Given the description of an element on the screen output the (x, y) to click on. 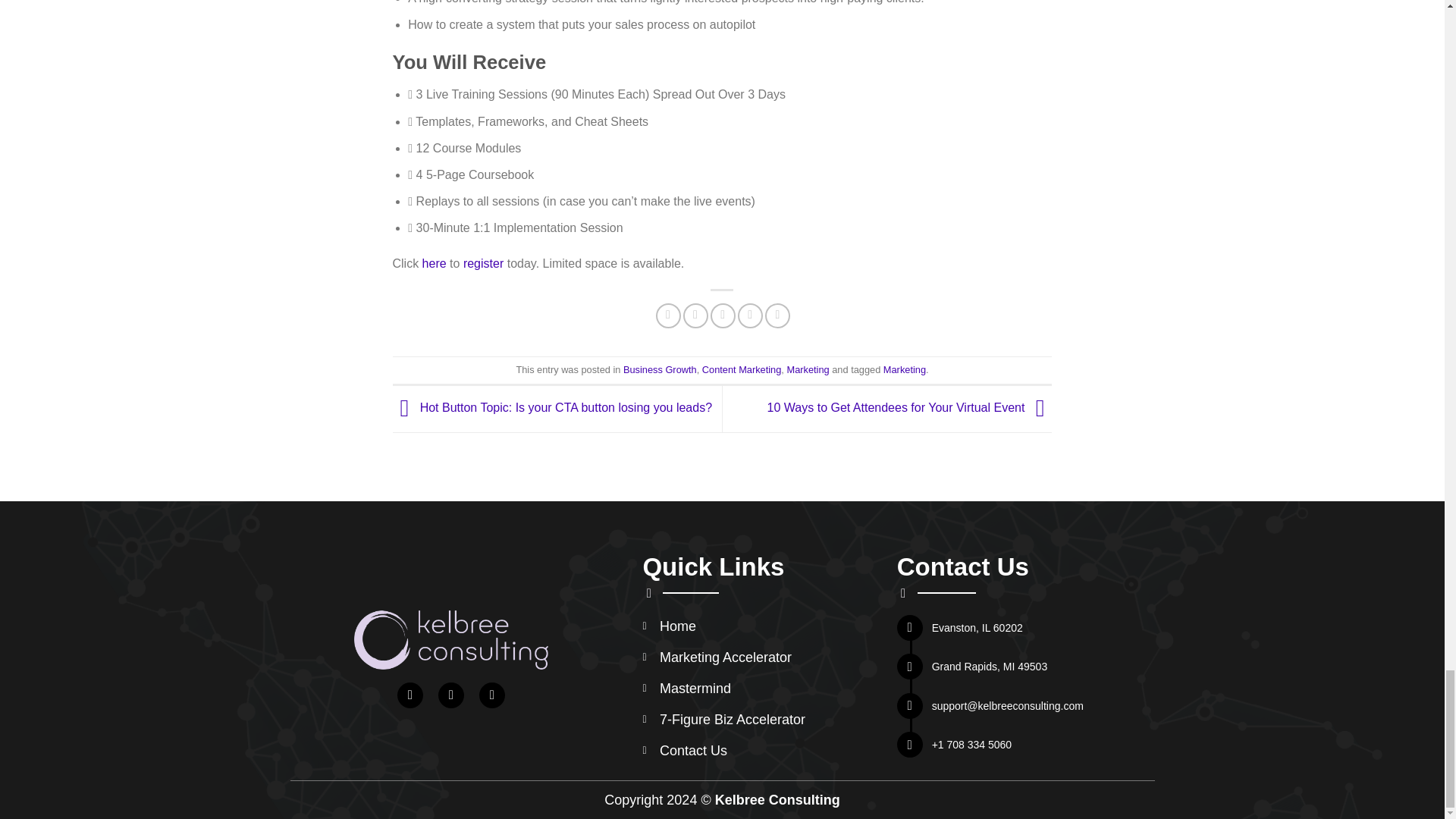
register (483, 263)
Share on Facebook (668, 315)
Pin on Pinterest (750, 315)
Email to a Friend (722, 315)
Share on LinkedIn (777, 315)
here (434, 263)
Share on Twitter (694, 315)
